Given the description of an element on the screen output the (x, y) to click on. 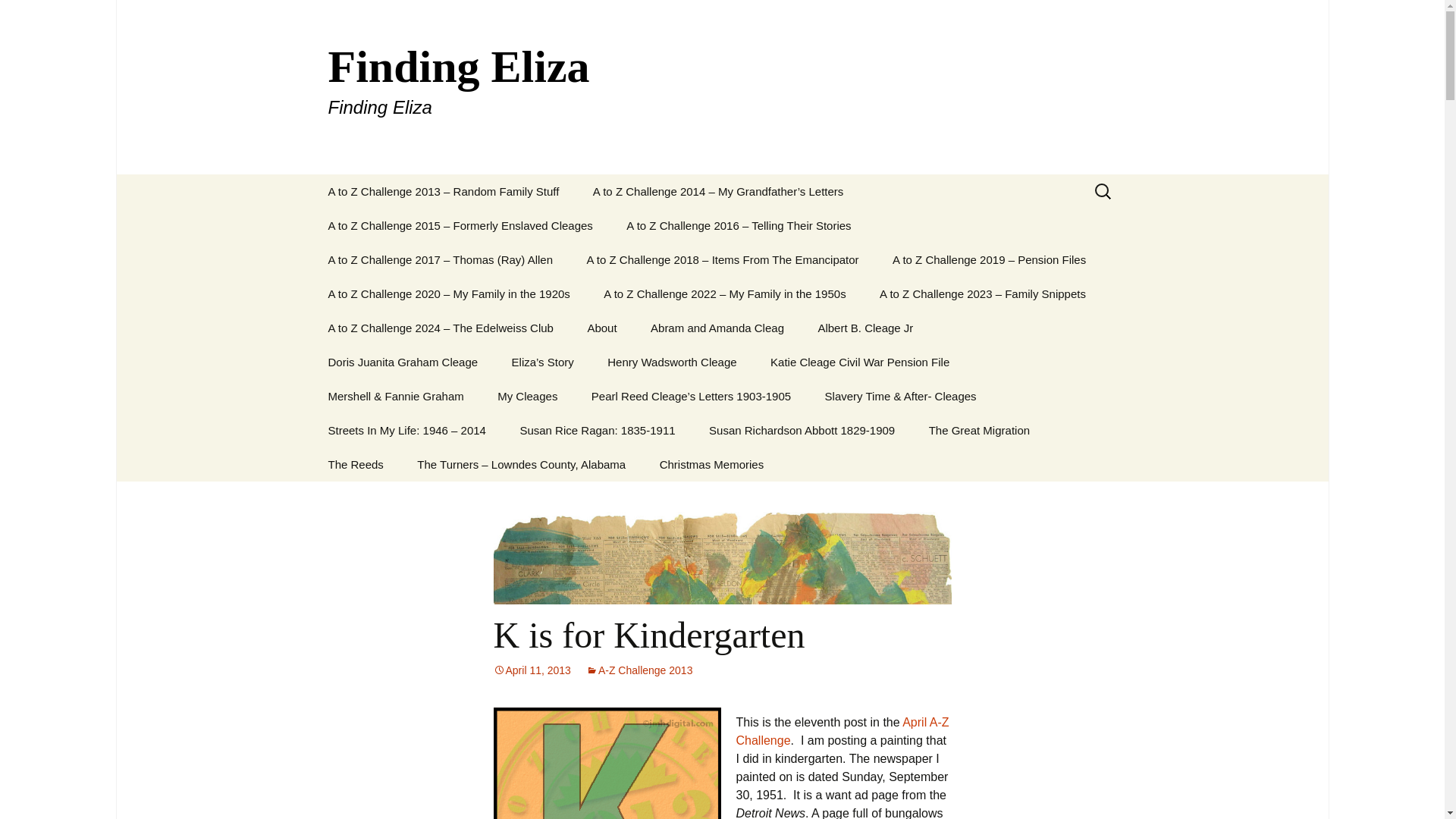
My Cleages (526, 396)
Susan Rice Ragan: 1835-1911 (596, 430)
Susan Richardson Abbott 1829-1909 (802, 430)
April A-Z Challenge (842, 730)
Albert B. Cleage Jr (865, 327)
Doris Juanita Graham Cleage (403, 361)
Henry Wadsworth Cleage (671, 361)
The Reeds (355, 464)
Search (18, 15)
April 11, 2013 (531, 670)
Abram and Amanda Cleag (716, 327)
Katie Cleage Civil War Pension File (859, 361)
Permalink to K is for Kindergarten (531, 670)
Christmas Memories (711, 464)
